Given the description of an element on the screen output the (x, y) to click on. 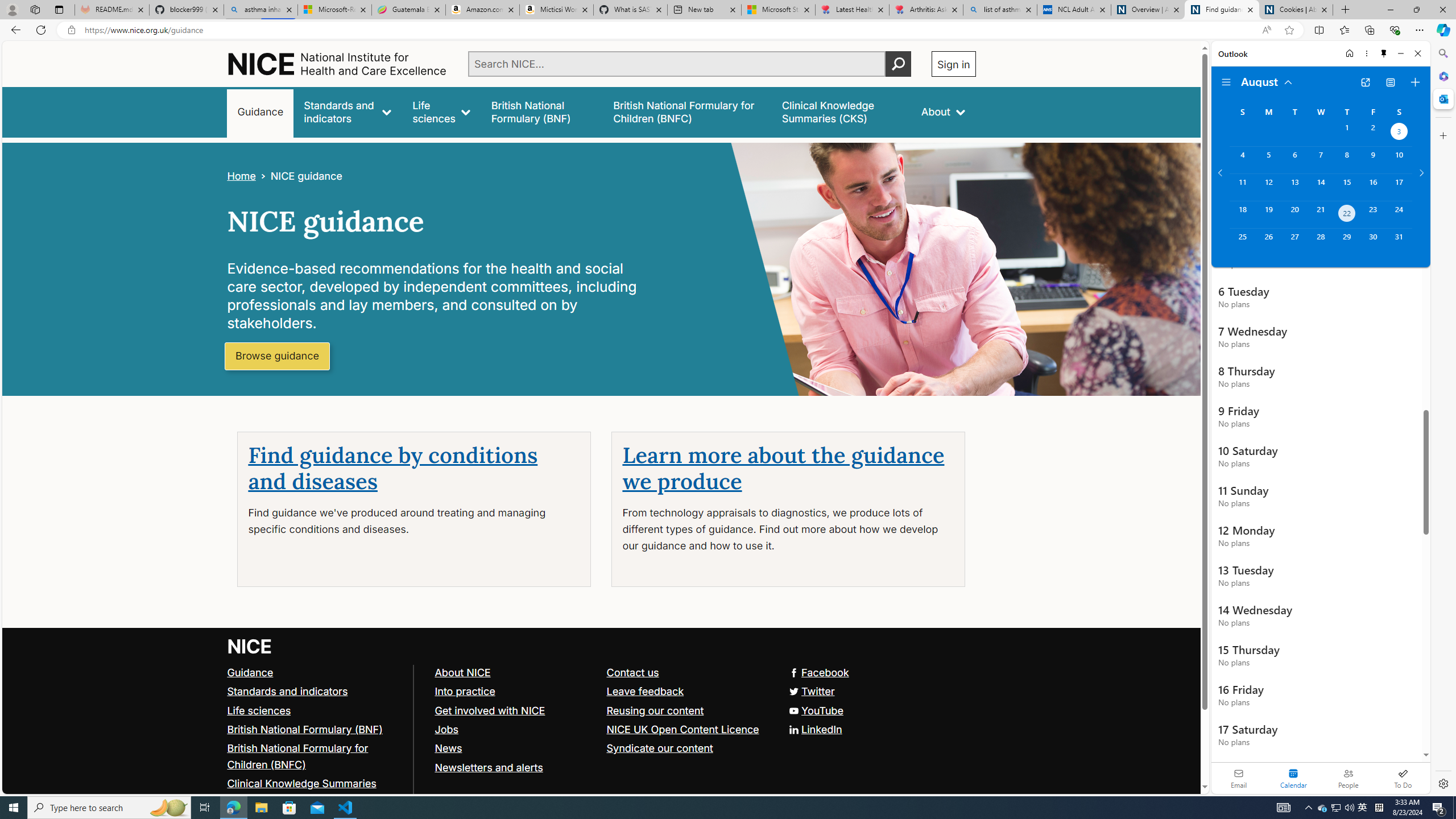
Get involved with NICE (489, 710)
Favorites (1344, 29)
Wednesday, August 7, 2024.  (1320, 159)
Home (241, 176)
Twitter (601, 691)
About NICE (461, 671)
Learn more about the guidance we produce (782, 468)
Wednesday, August 28, 2024.  (1320, 241)
Monday, August 12, 2024.  (1268, 186)
Reusing our content (654, 710)
Leave feedback (644, 690)
Close (1417, 53)
Workspaces (34, 9)
Get involved with NICE (514, 710)
